Given the description of an element on the screen output the (x, y) to click on. 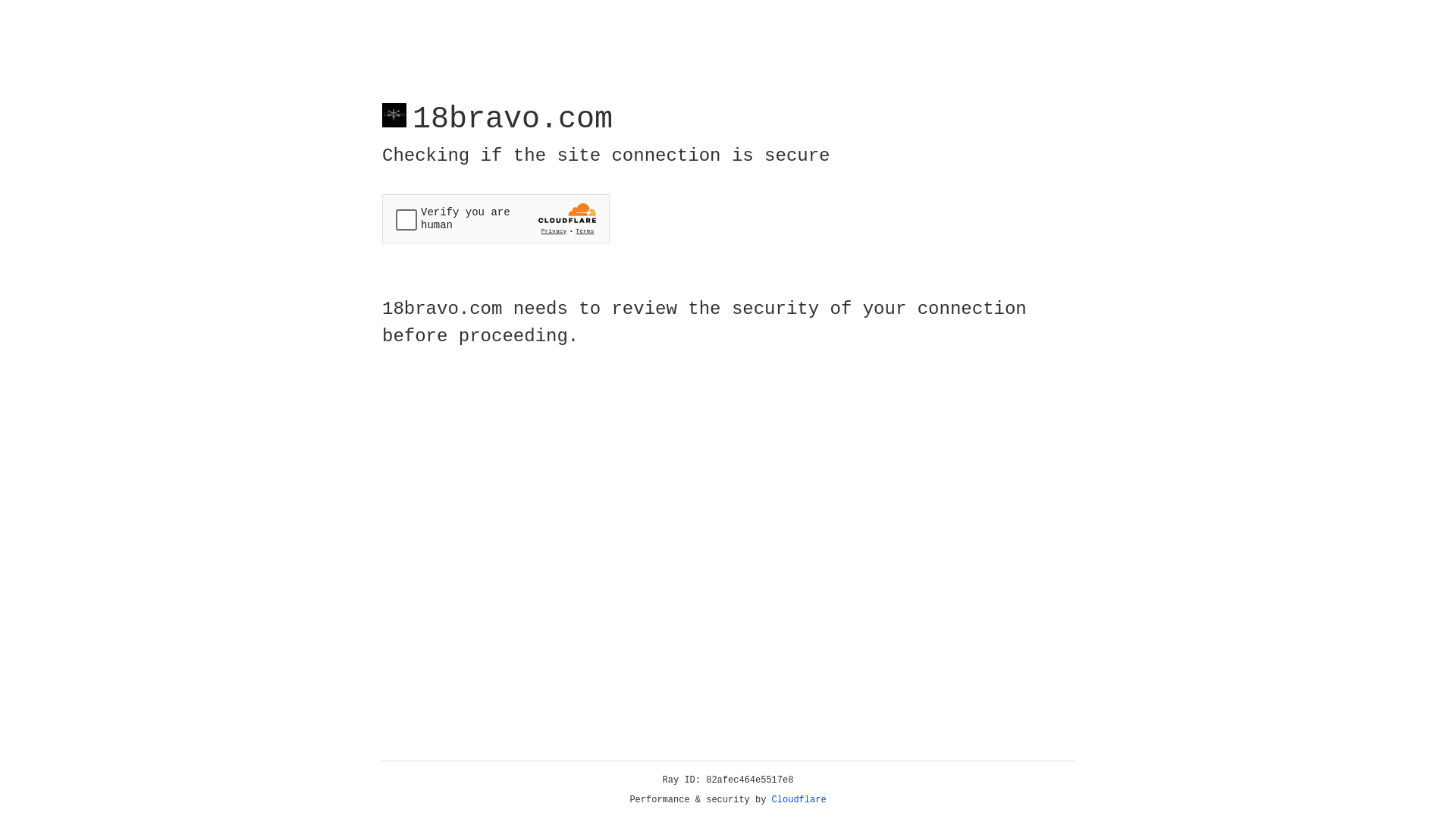
Widget containing a Cloudflare security challenge Element type: hover (495, 218)
Cloudflare Element type: text (798, 799)
